Given the description of an element on the screen output the (x, y) to click on. 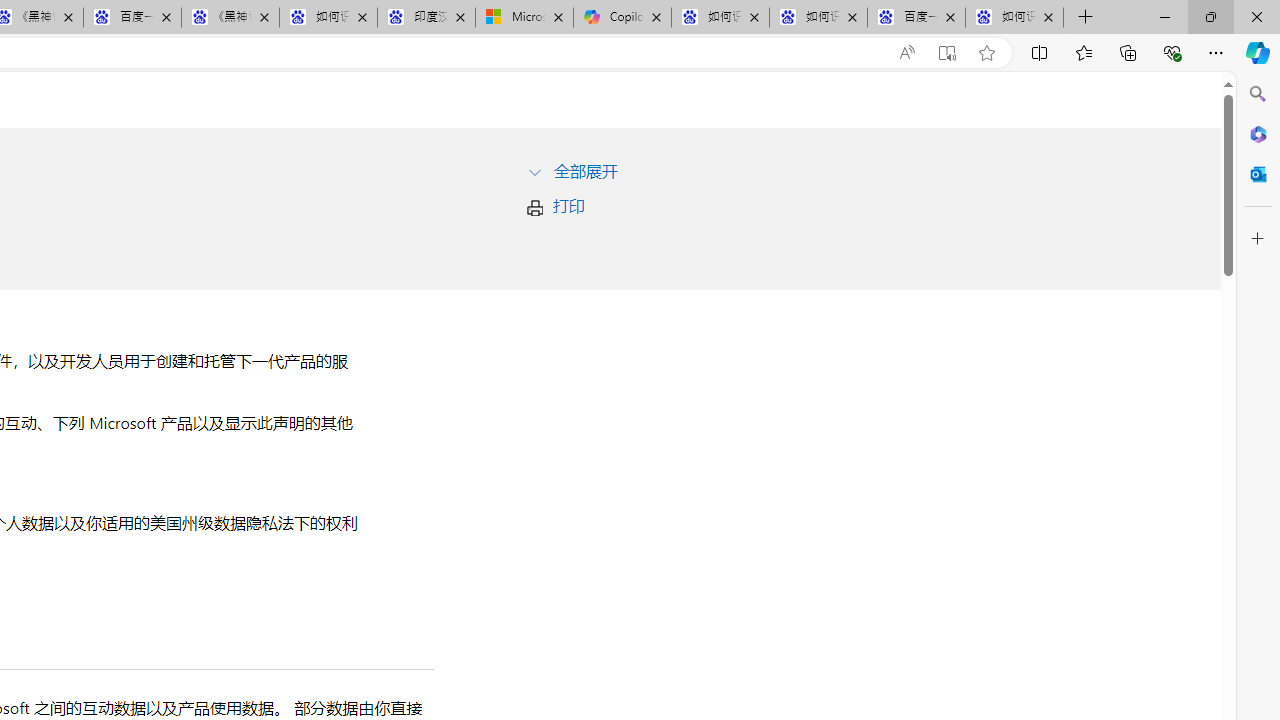
Copilot (621, 17)
